Given the description of an element on the screen output the (x, y) to click on. 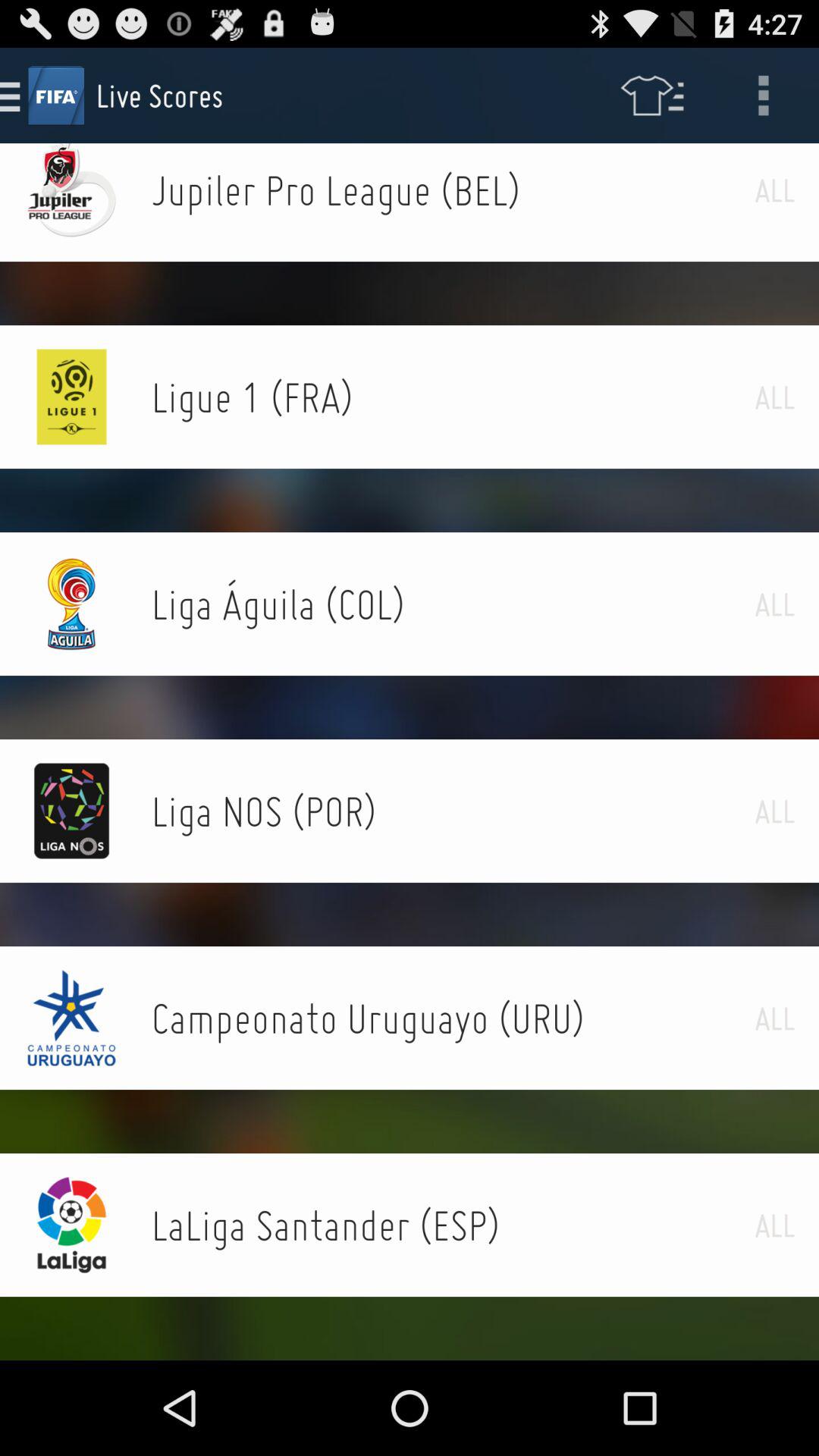
select item next to all item (452, 1017)
